Given the description of an element on the screen output the (x, y) to click on. 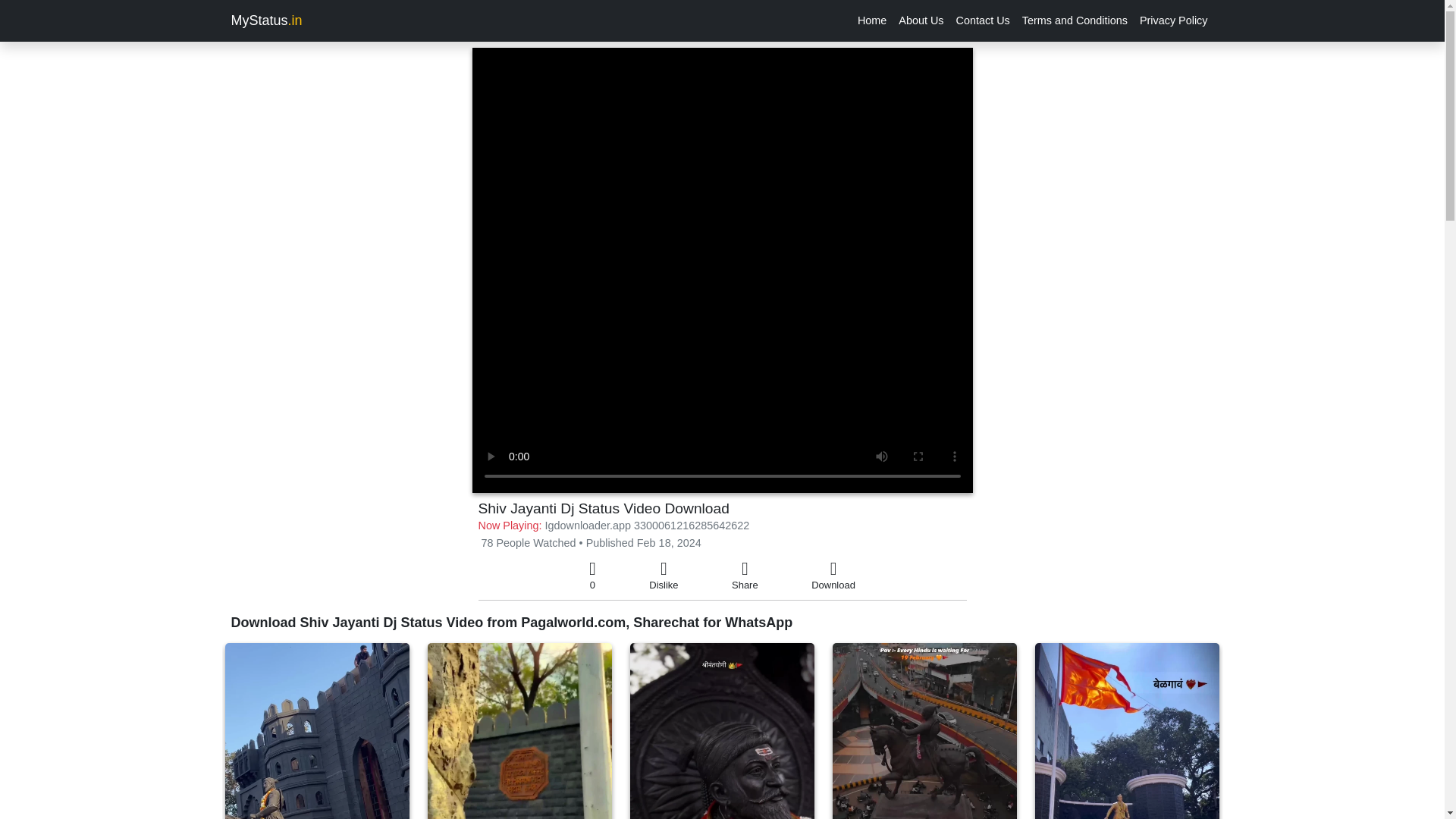
MyStatus.in (265, 20)
Download (833, 576)
Dislike (663, 576)
Contact Us (983, 20)
About Us (920, 20)
Terms and Conditions (1075, 20)
Share (744, 576)
Home (871, 20)
0 (592, 576)
Privacy Policy (1174, 20)
